Given the description of an element on the screen output the (x, y) to click on. 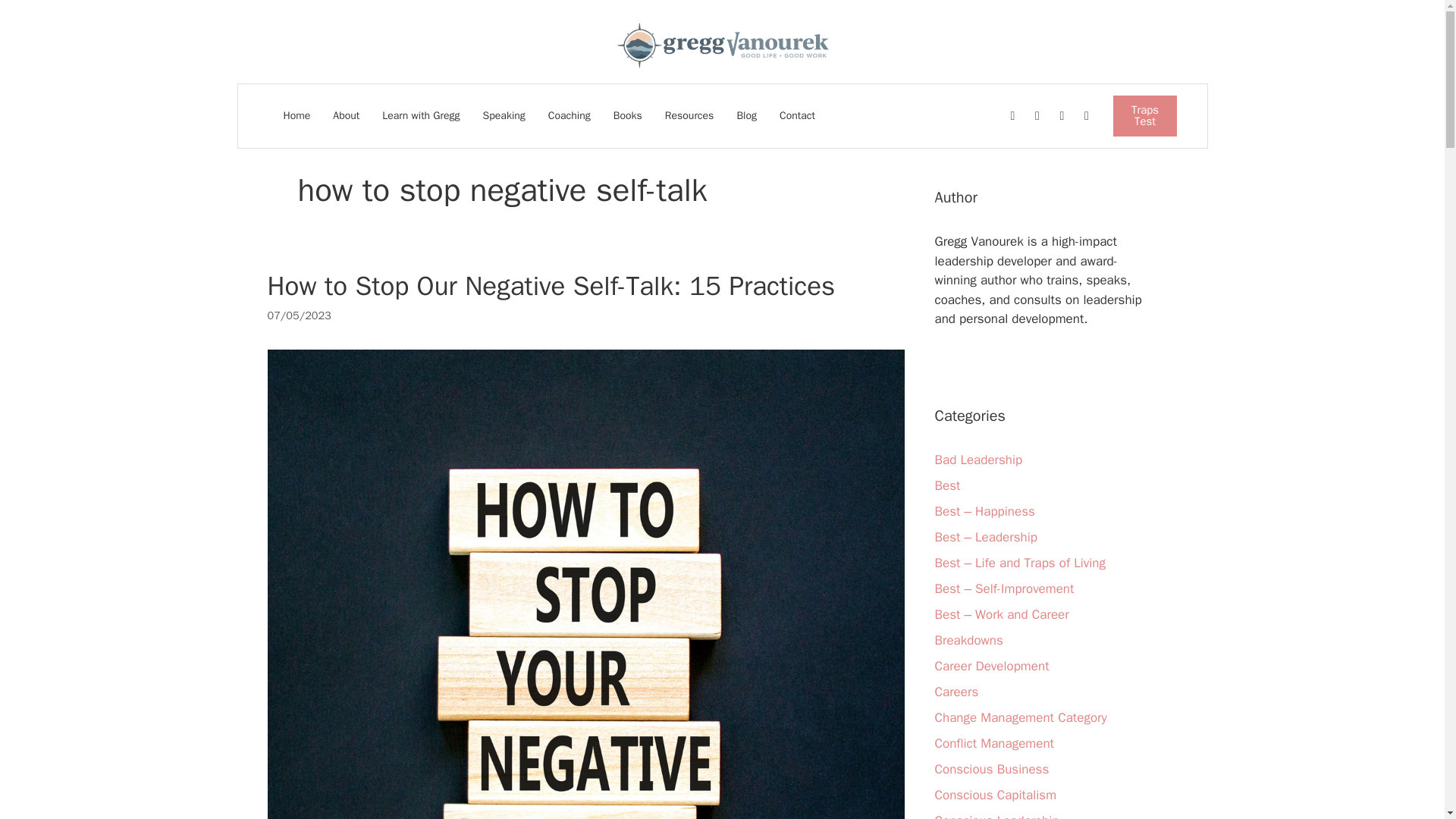
Speaking (503, 115)
Contact (796, 115)
Coaching (568, 115)
Home (296, 115)
Books (628, 115)
Blog (745, 115)
Resources (689, 115)
Learn with Gregg (420, 115)
About (345, 115)
